Given the description of an element on the screen output the (x, y) to click on. 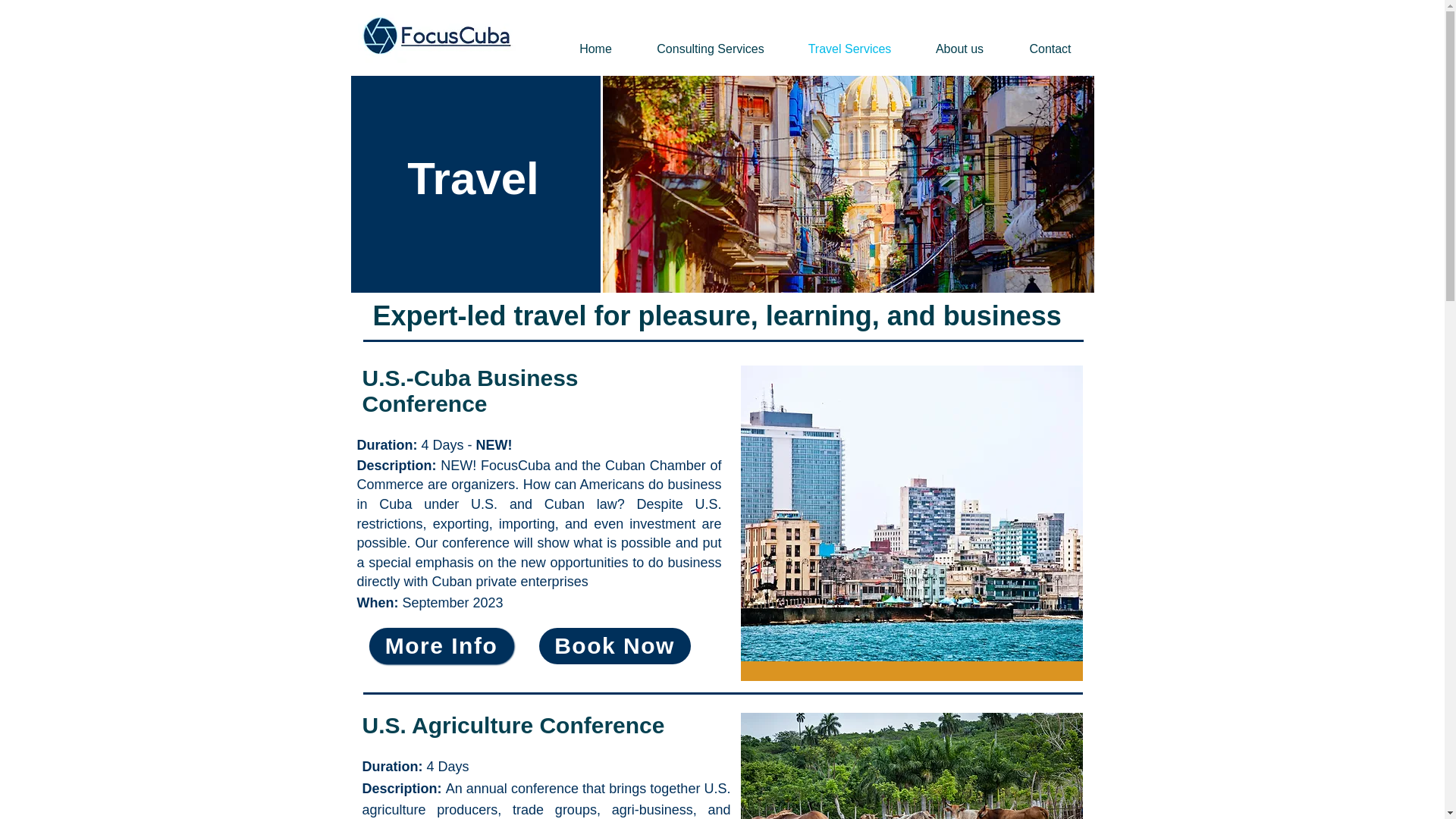
Home (594, 48)
About us (959, 48)
Book Now (614, 646)
Consulting Services (709, 48)
Contact (1050, 48)
Travel Services (849, 48)
More Info (440, 646)
